Given the description of an element on the screen output the (x, y) to click on. 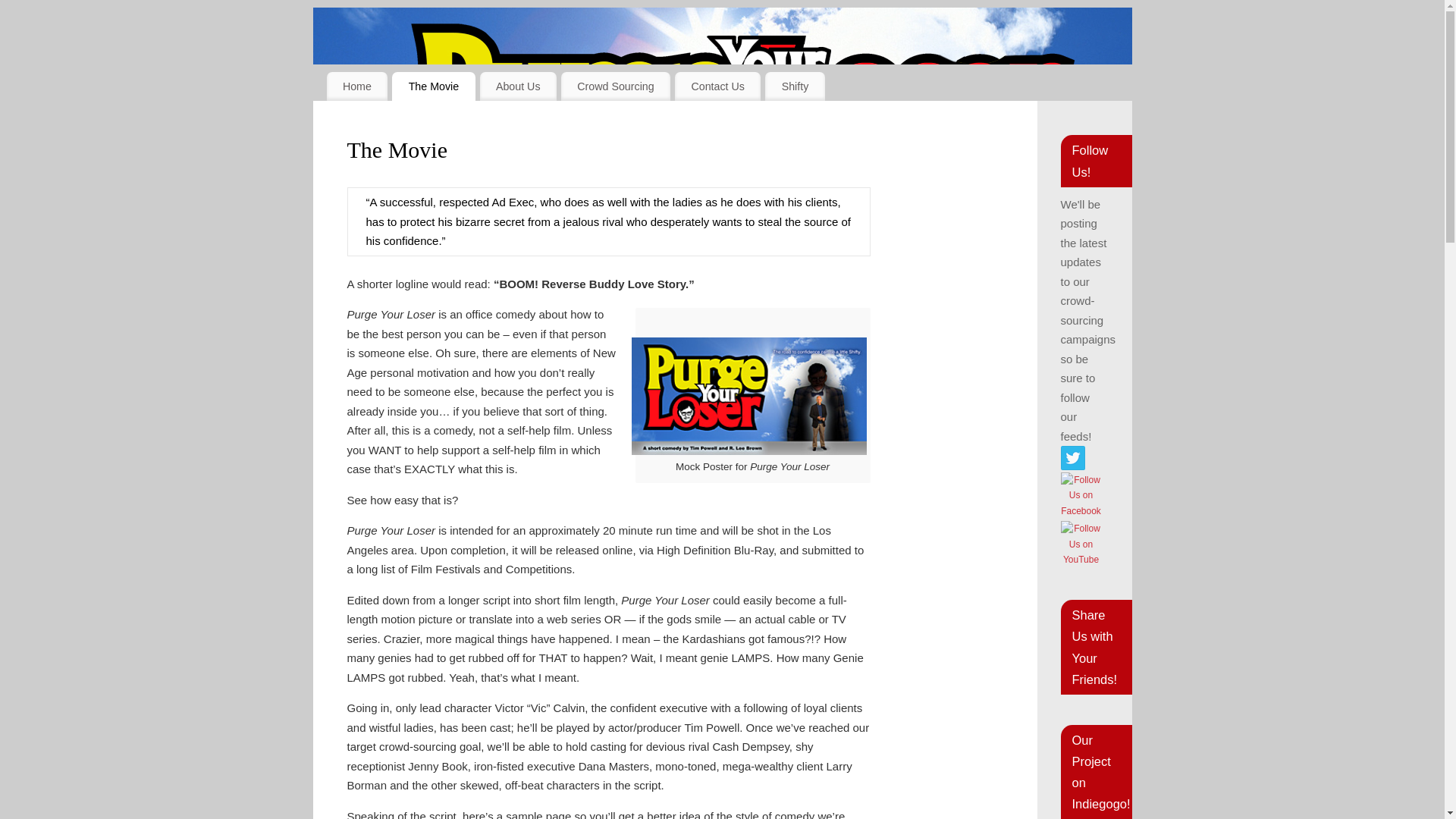
About Us (518, 86)
Home (356, 86)
Contact Us (717, 86)
Shifty (794, 86)
Crowd Sourcing (614, 86)
The Movie (432, 86)
Follow Us on Twitter (1071, 457)
